Given the description of an element on the screen output the (x, y) to click on. 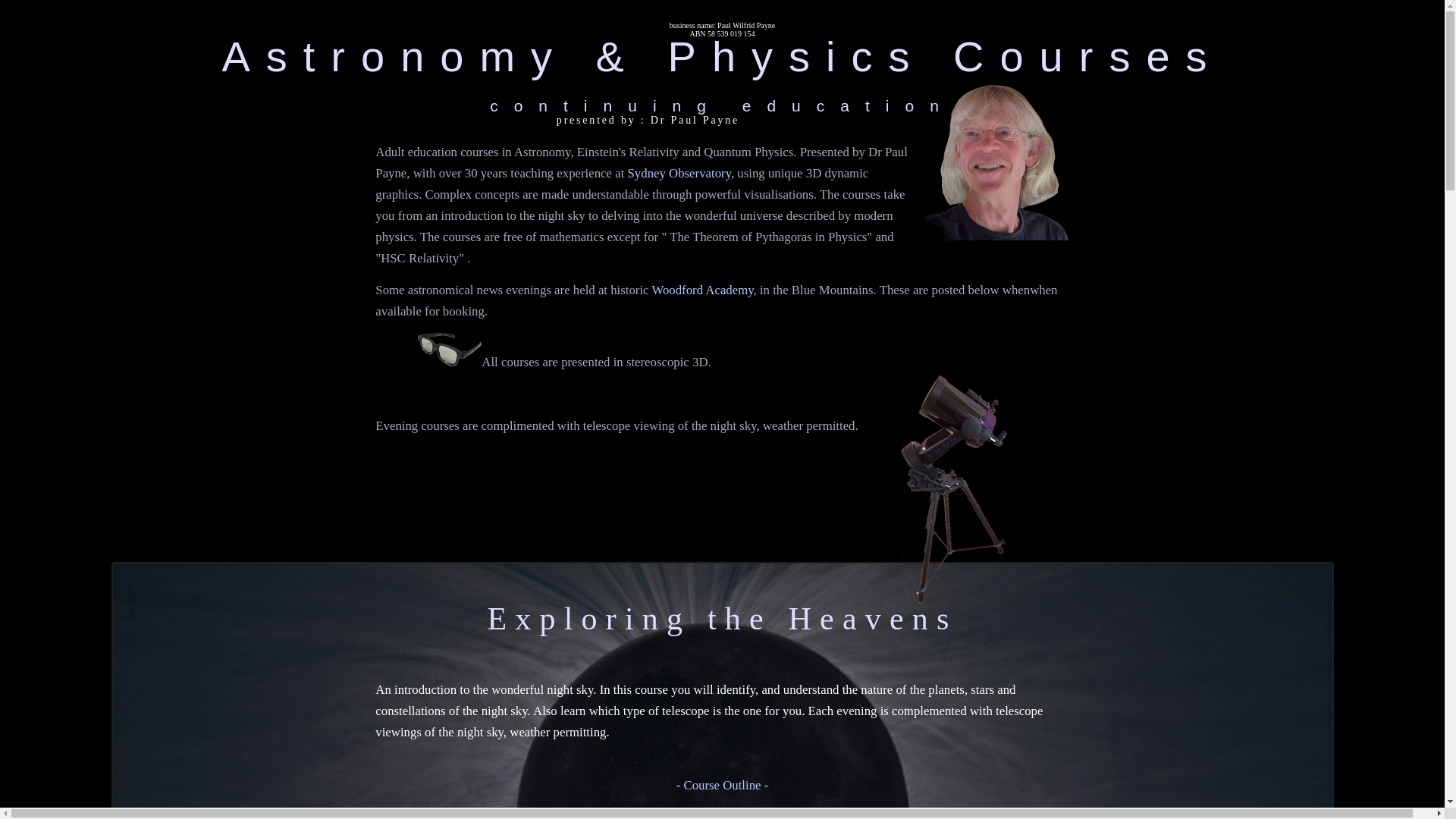
Astronomy & Physics Courses Element type: text (721, 56)
Sydney Observatory Element type: text (679, 173)
Woodford Academy Element type: text (702, 289)
- Course Outline - Element type: text (722, 785)
